Given the description of an element on the screen output the (x, y) to click on. 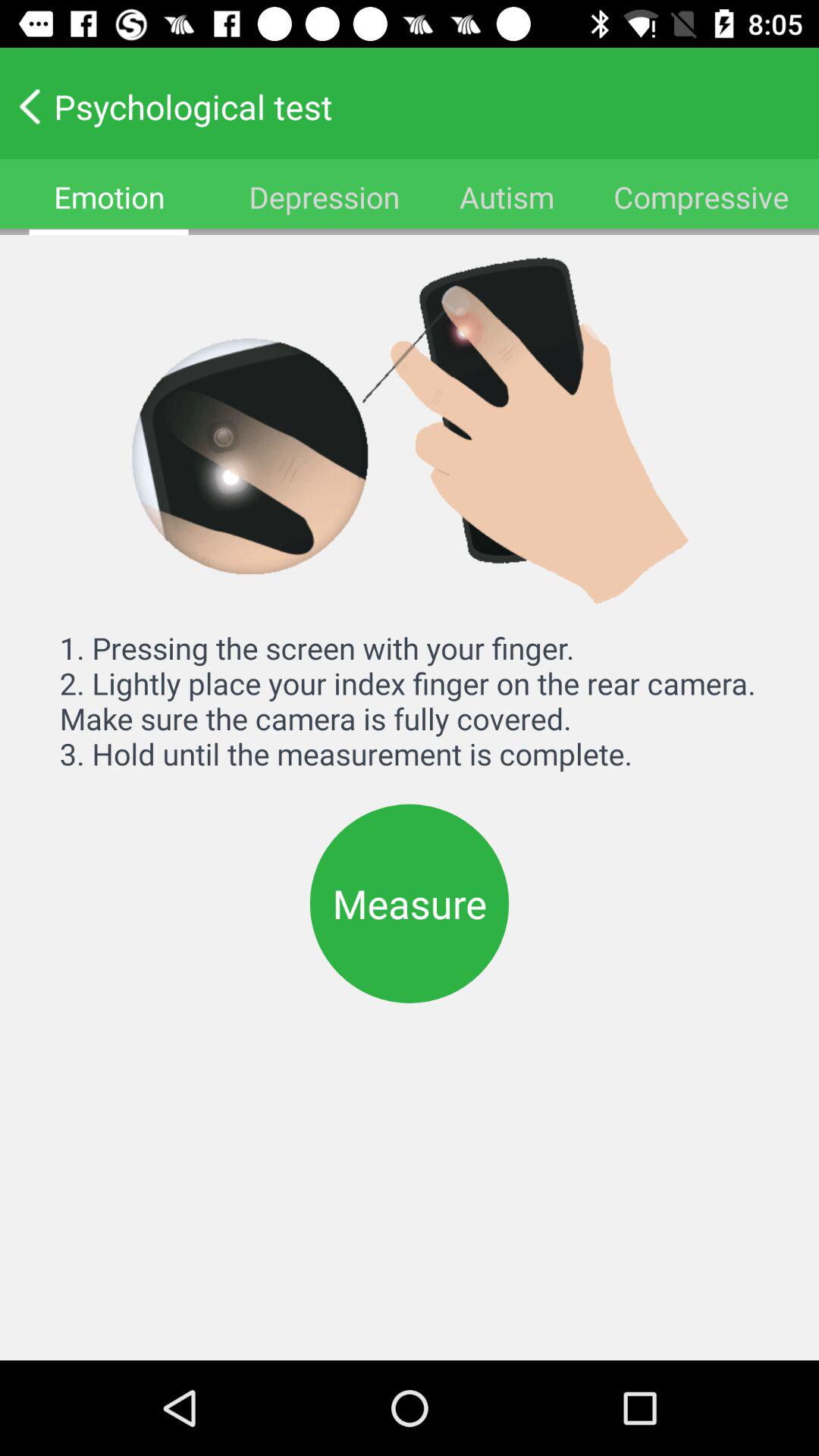
press icon next to autism item (701, 196)
